Given the description of an element on the screen output the (x, y) to click on. 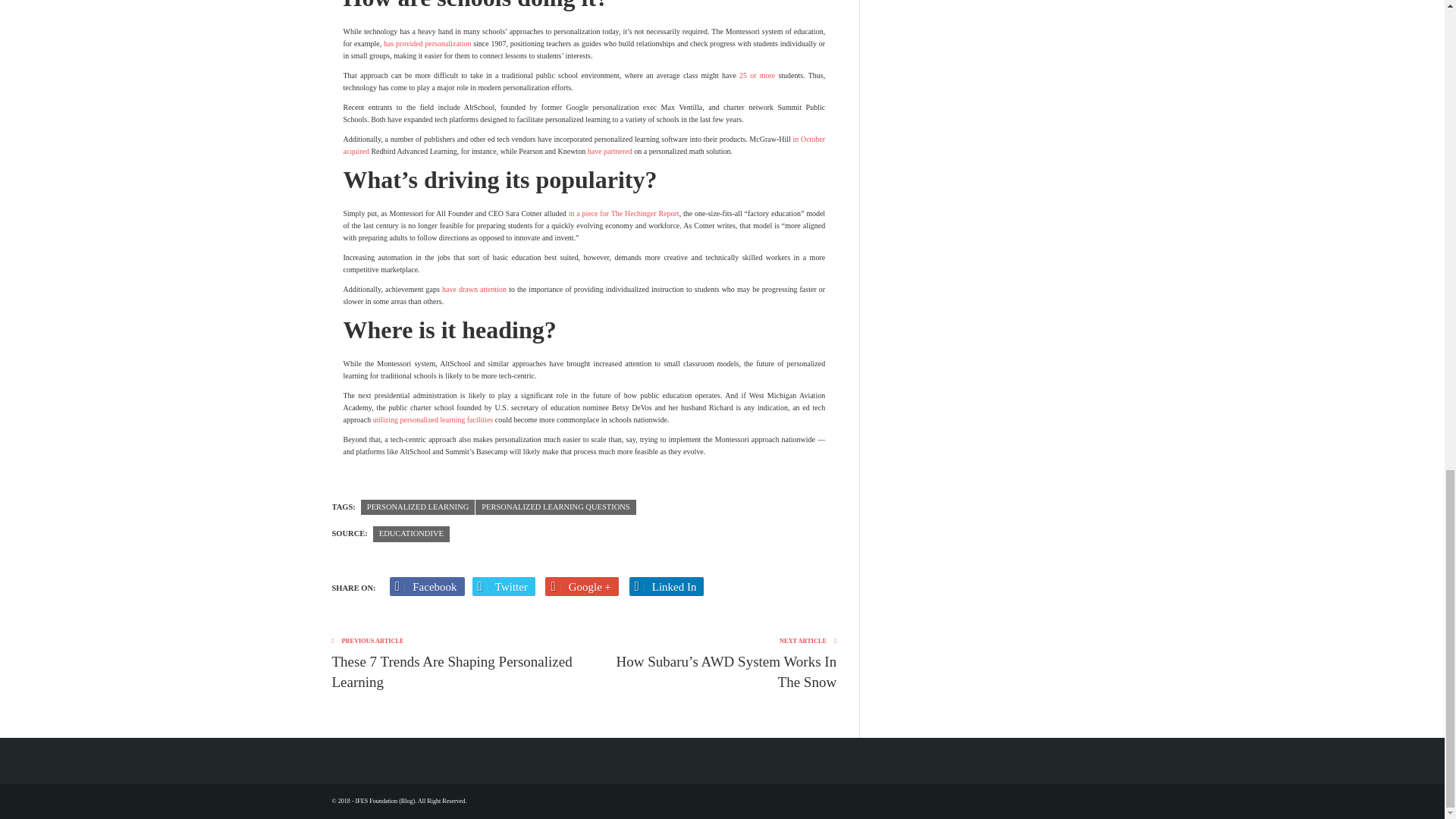
Personalized Learning (417, 507)
Personalized learning Questions (555, 507)
